Given the description of an element on the screen output the (x, y) to click on. 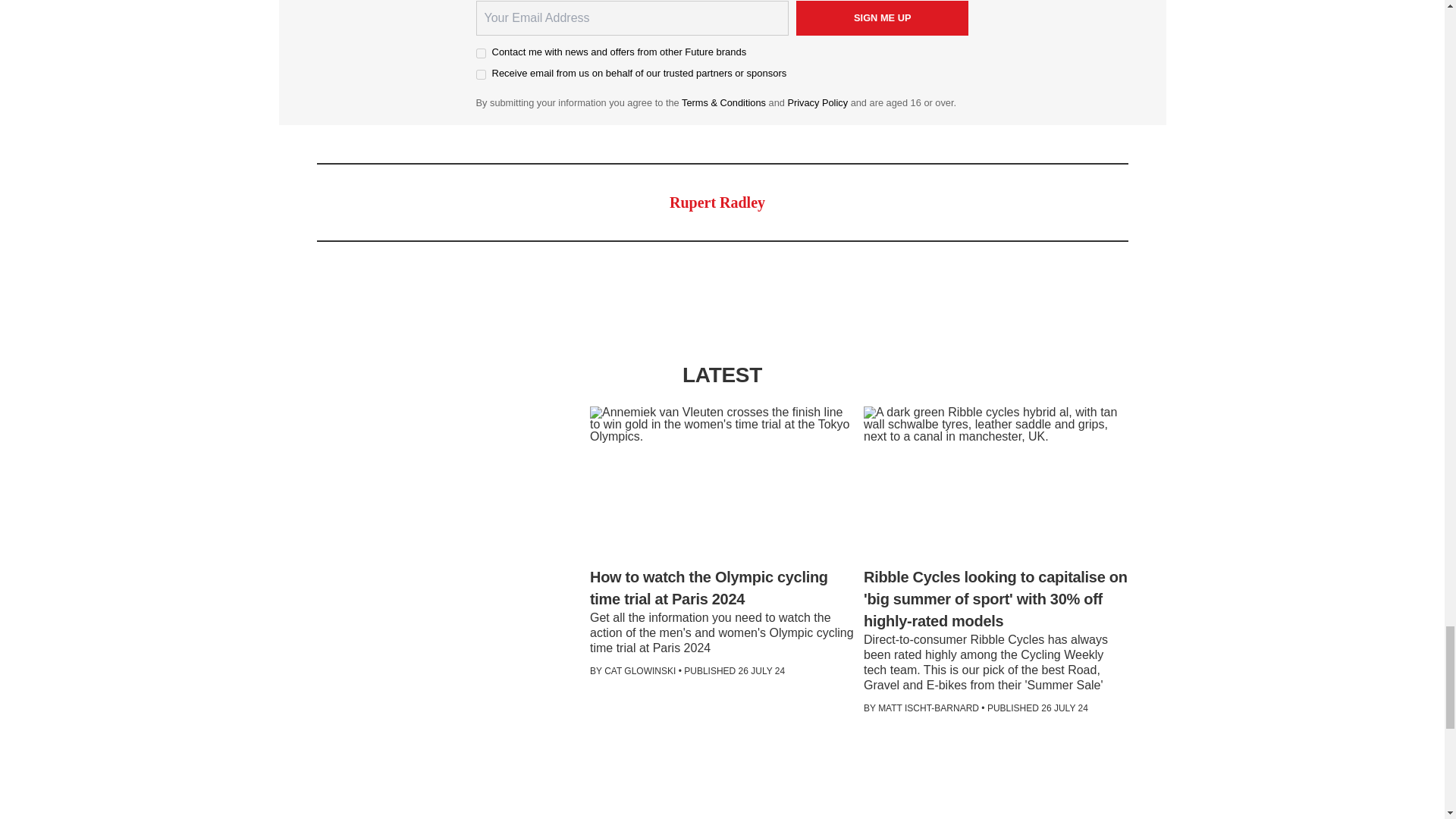
Sign me up (882, 18)
on (481, 74)
on (481, 53)
